Given the description of an element on the screen output the (x, y) to click on. 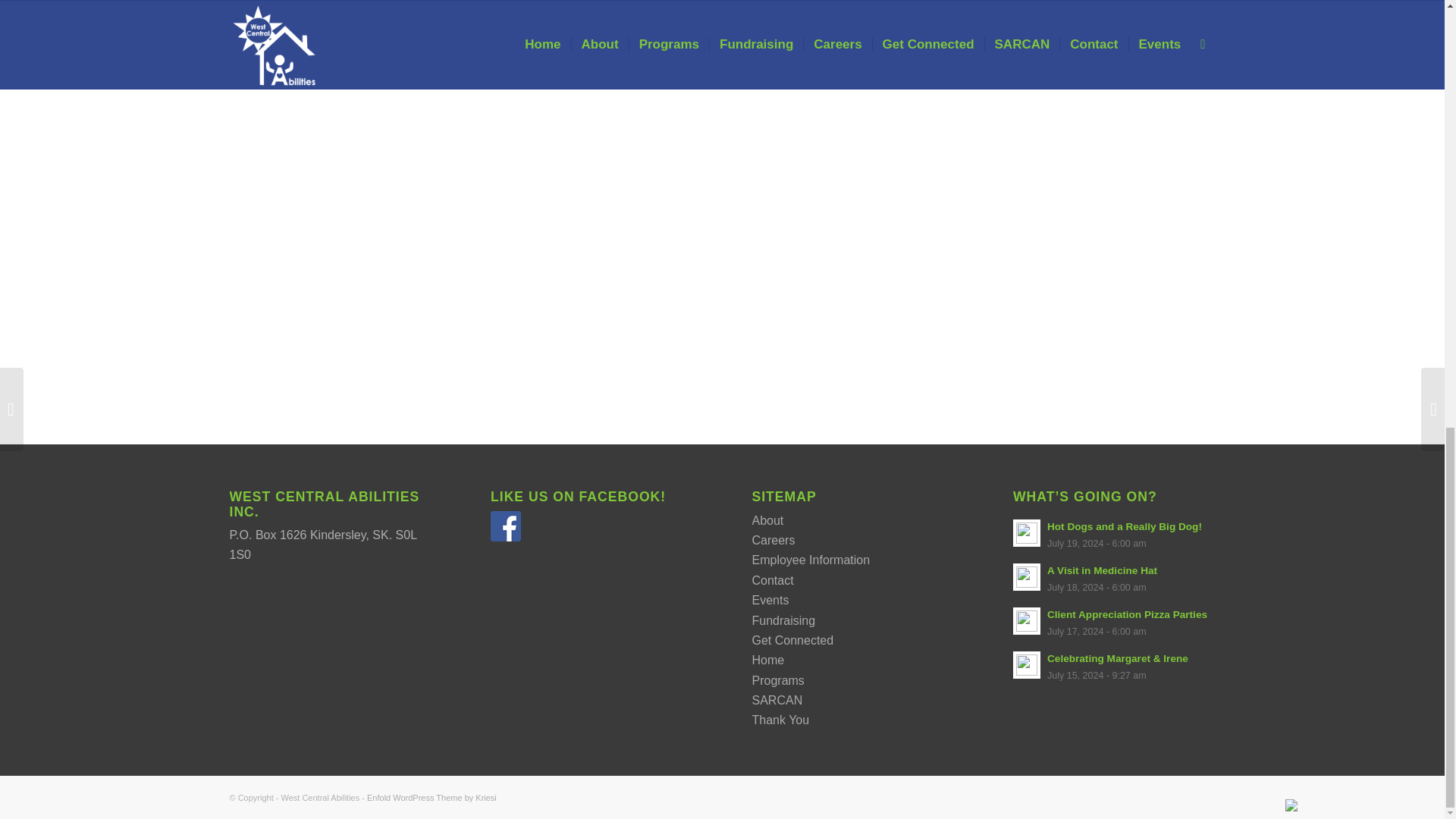
SITEMAP (784, 496)
